Given the description of an element on the screen output the (x, y) to click on. 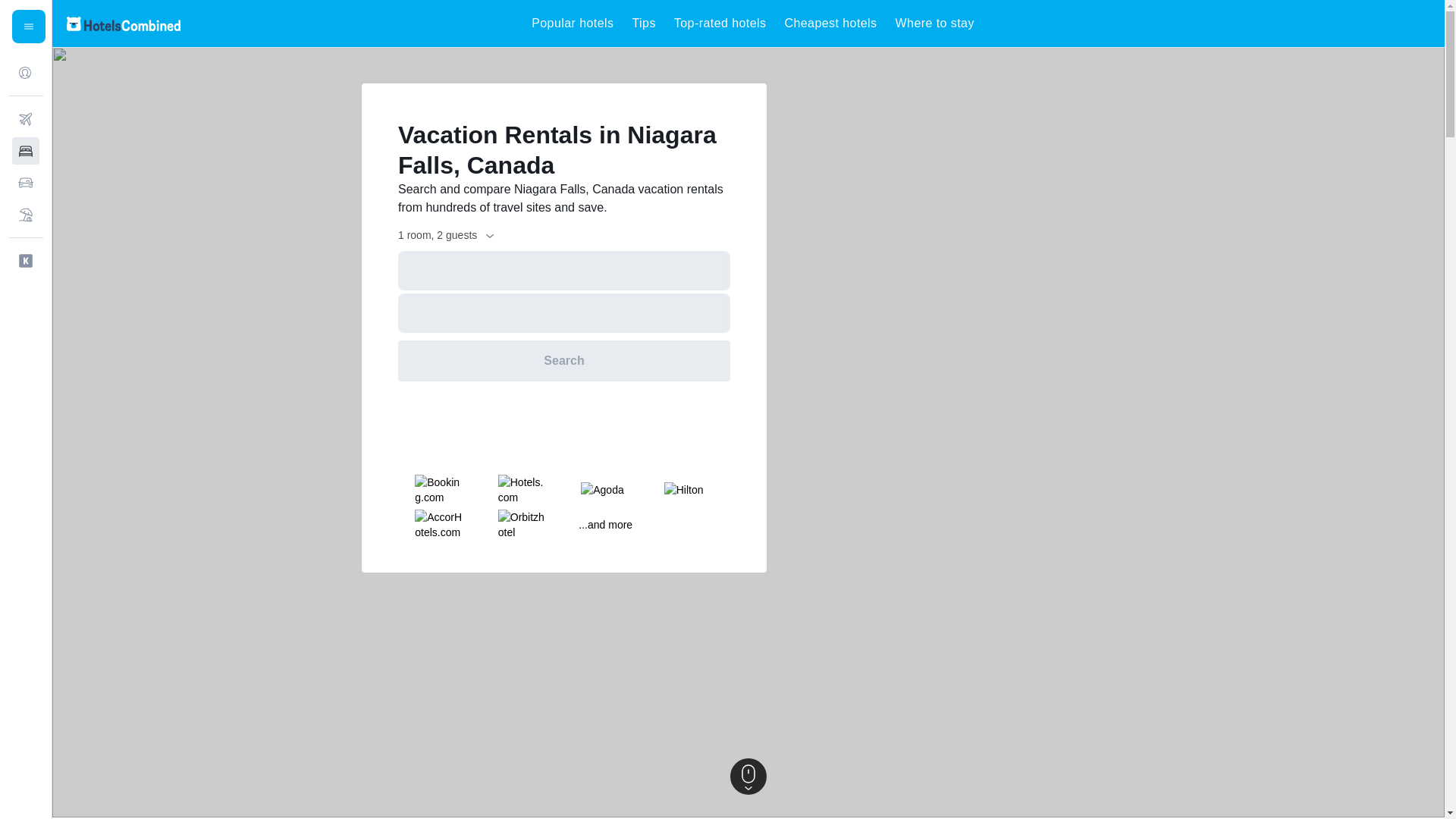
Search (563, 360)
Search (563, 360)
1 room, 2 guests (446, 235)
